Given the description of an element on the screen output the (x, y) to click on. 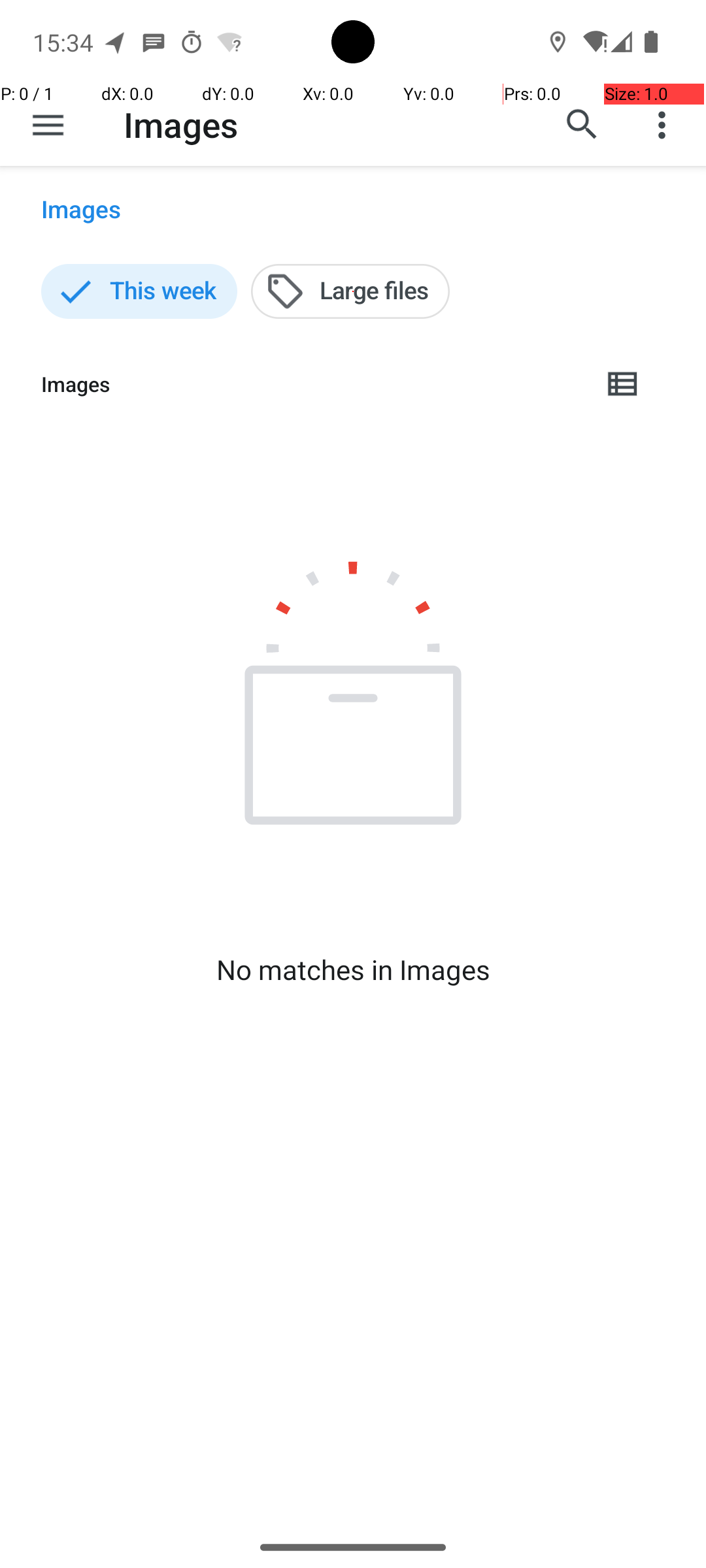
No matches in Images Element type: android.widget.TextView (352, 968)
